Given the description of an element on the screen output the (x, y) to click on. 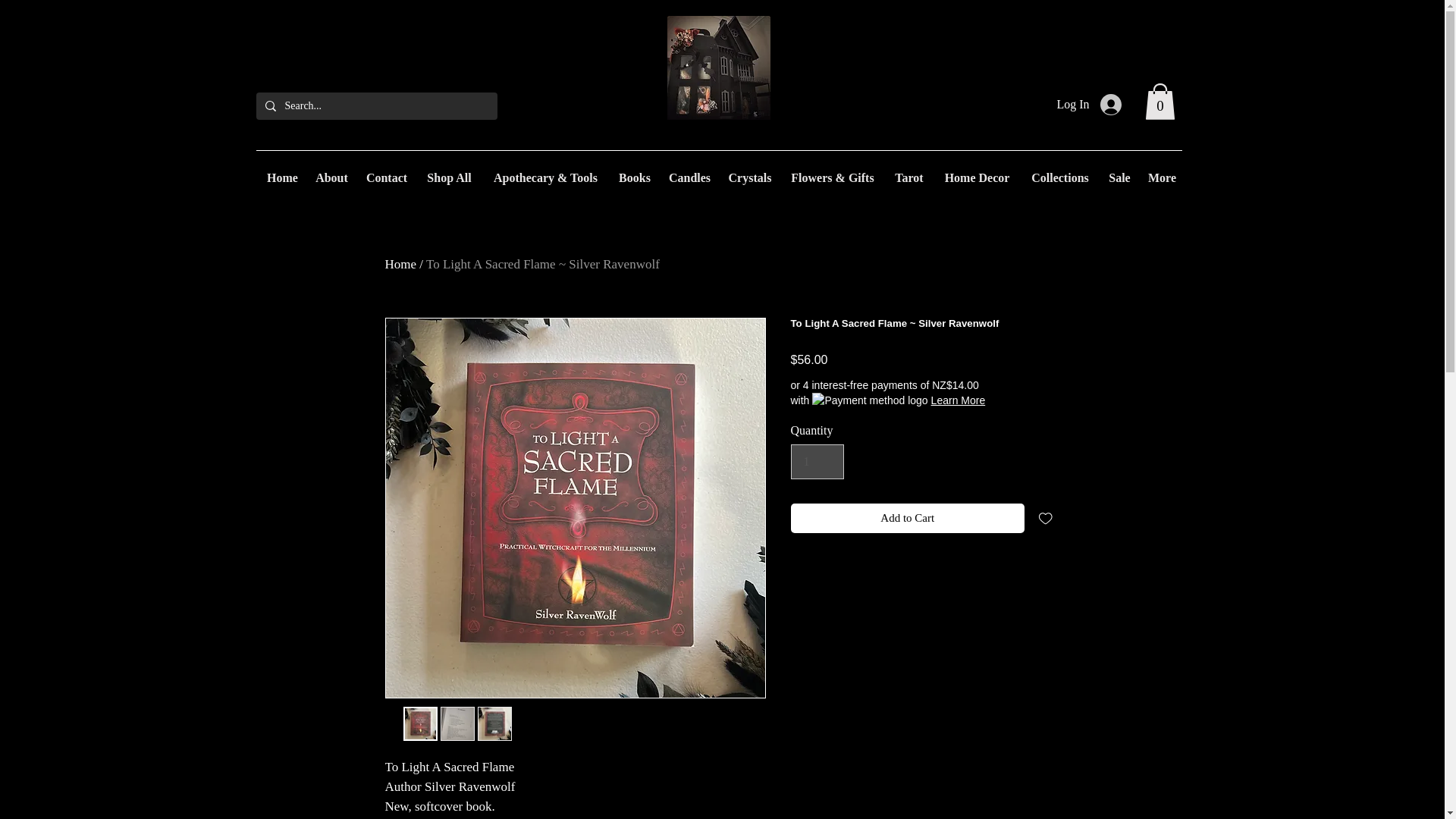
1 (817, 461)
Contact (386, 177)
About (330, 177)
Shop All (448, 177)
Tarot (908, 177)
Home (281, 177)
Log In (1088, 104)
